Given the description of an element on the screen output the (x, y) to click on. 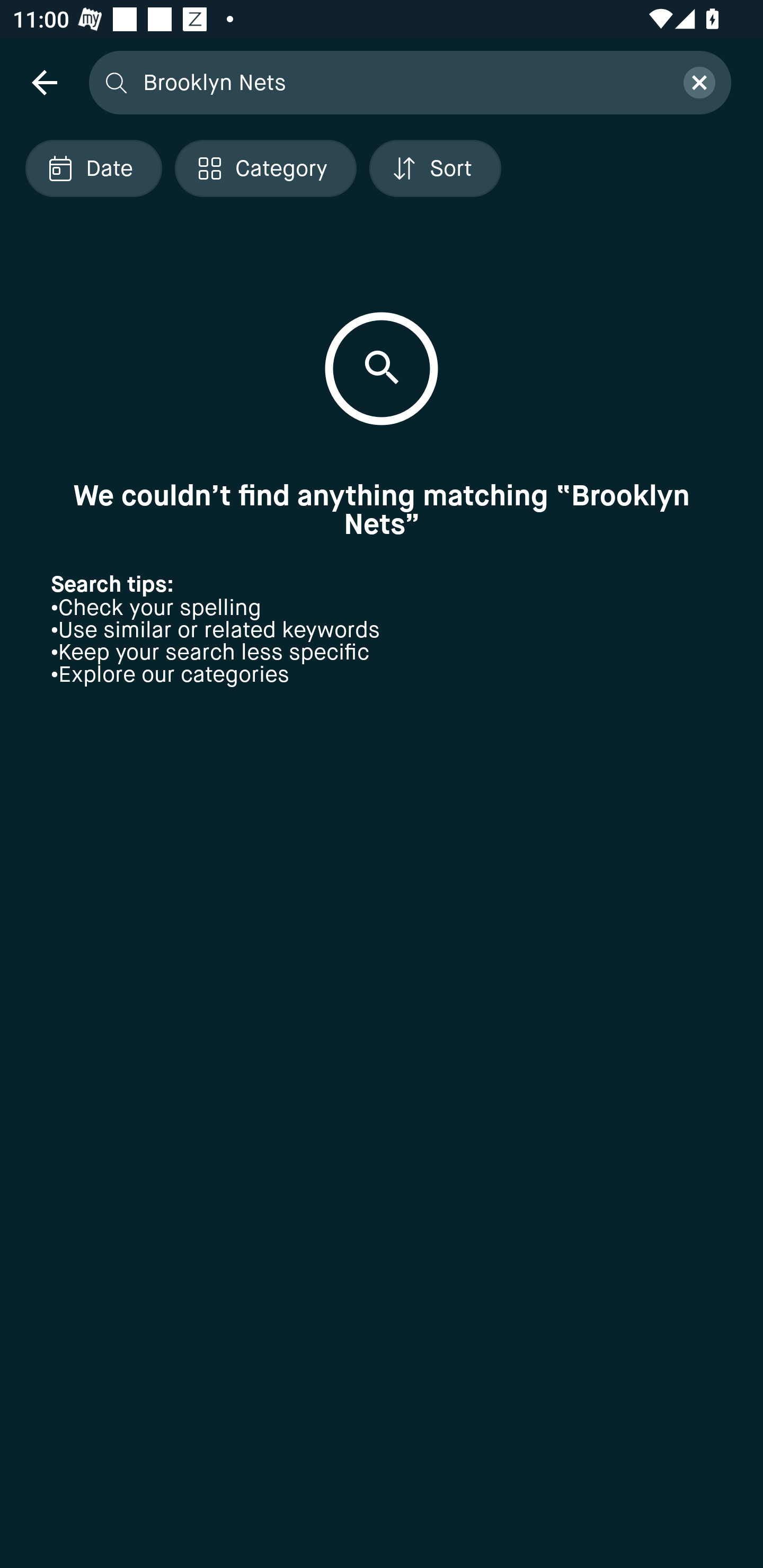
navigation icon (44, 81)
Brooklyn Nets (402, 81)
Localized description Date (93, 168)
Localized description Category (265, 168)
Localized description Sort (435, 168)
We couldn’t find anything matching “Brooklyn Nets” (381, 509)
